Given the description of an element on the screen output the (x, y) to click on. 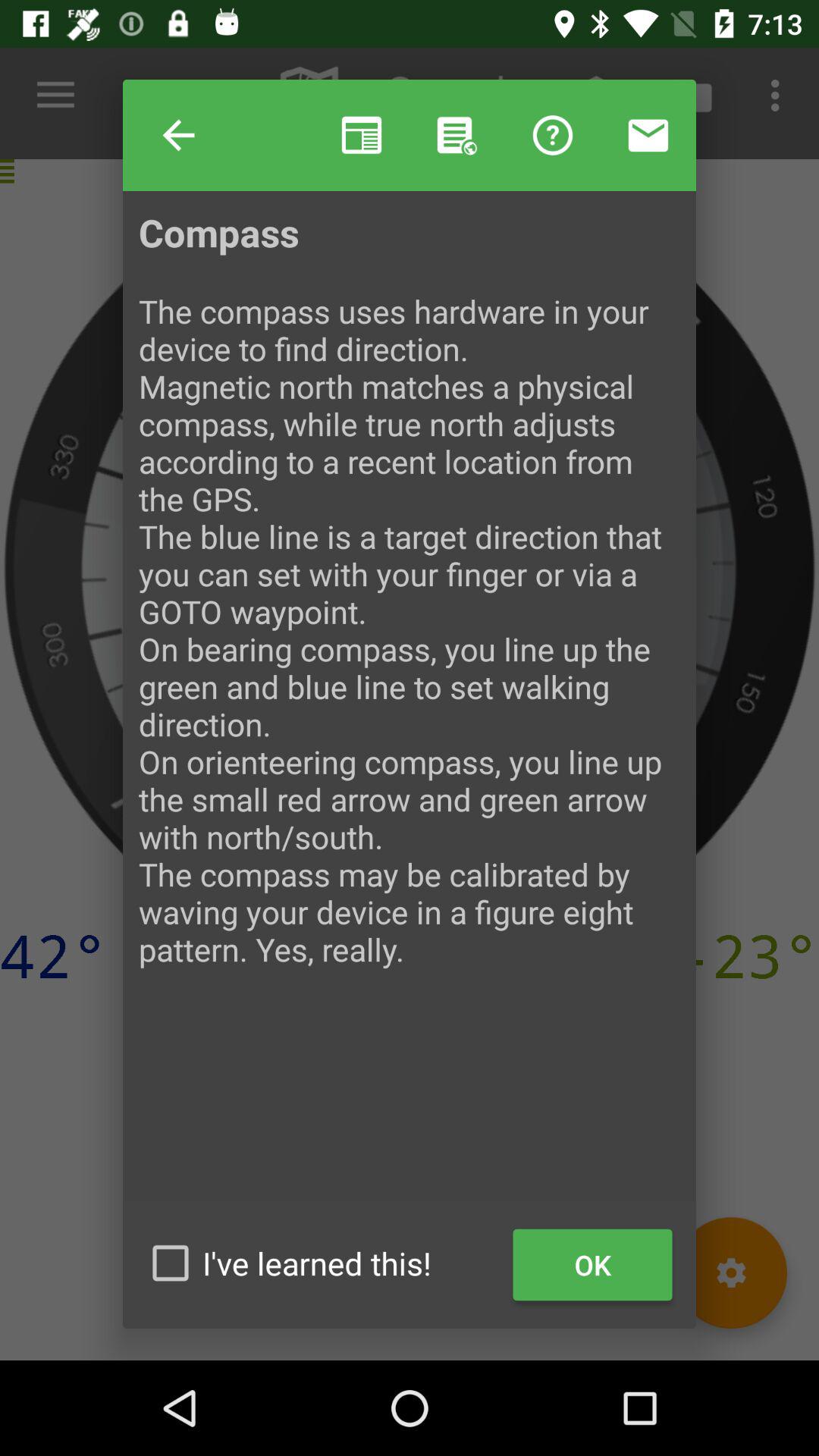
select the item above compass the compass item (457, 135)
